Given the description of an element on the screen output the (x, y) to click on. 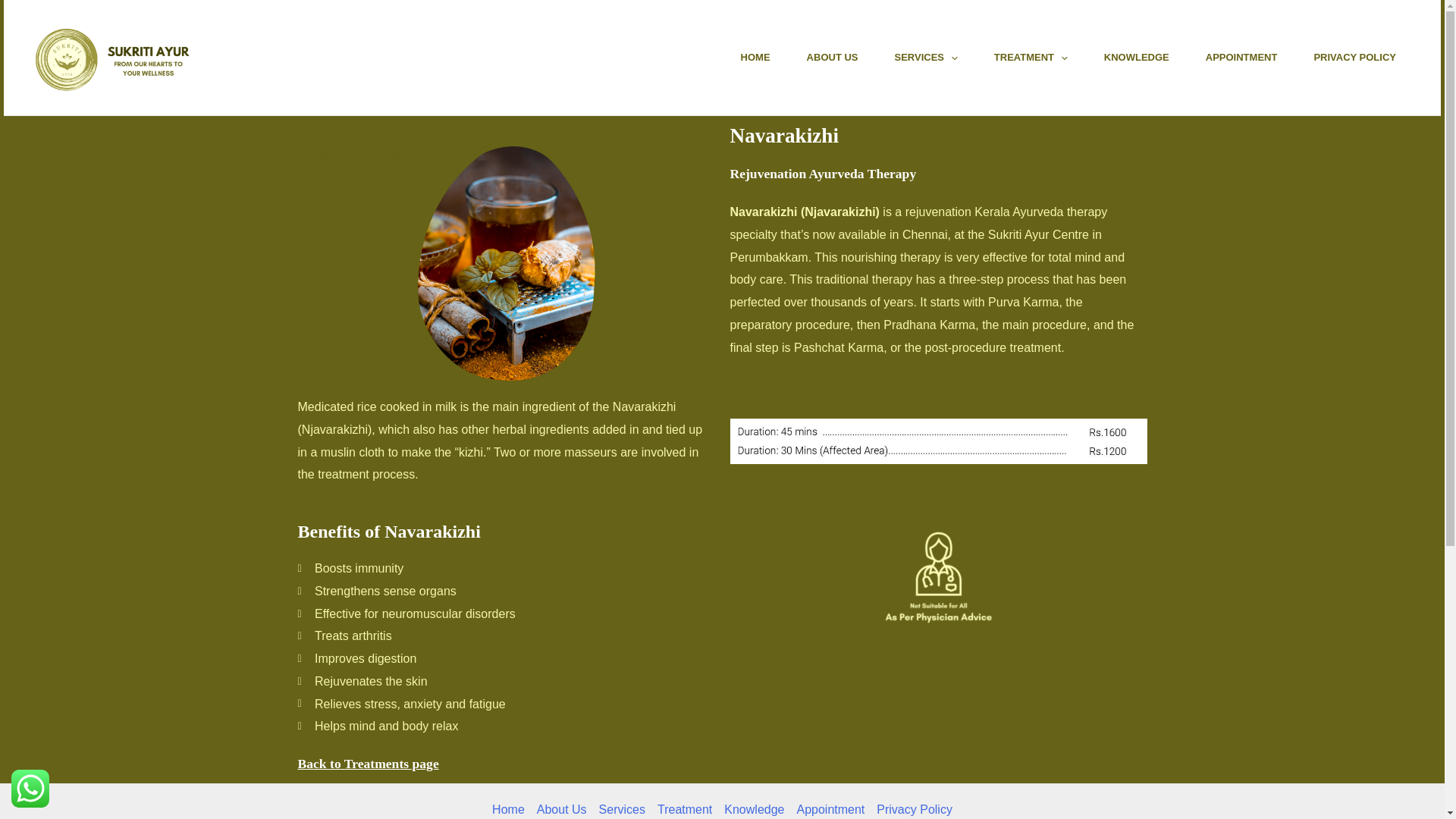
PRIVACY POLICY (1354, 56)
ABOUT US (832, 56)
HOME (755, 56)
APPOINTMENT (1241, 56)
TREATMENT (1030, 56)
KNOWLEDGE (1137, 56)
SERVICES (925, 56)
